Given the description of an element on the screen output the (x, y) to click on. 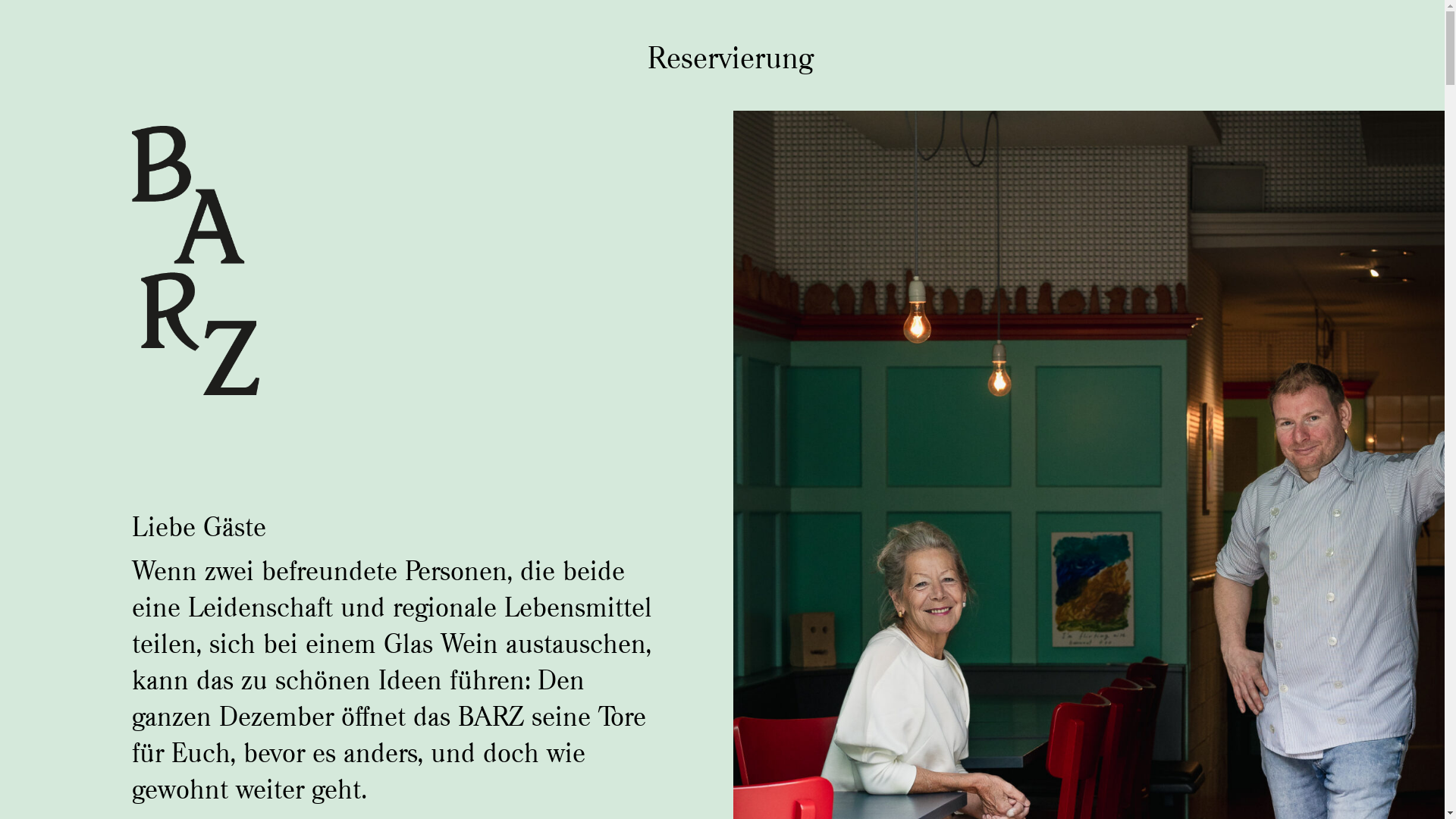
 Reservierung Element type: text (722, 57)
